Given the description of an element on the screen output the (x, y) to click on. 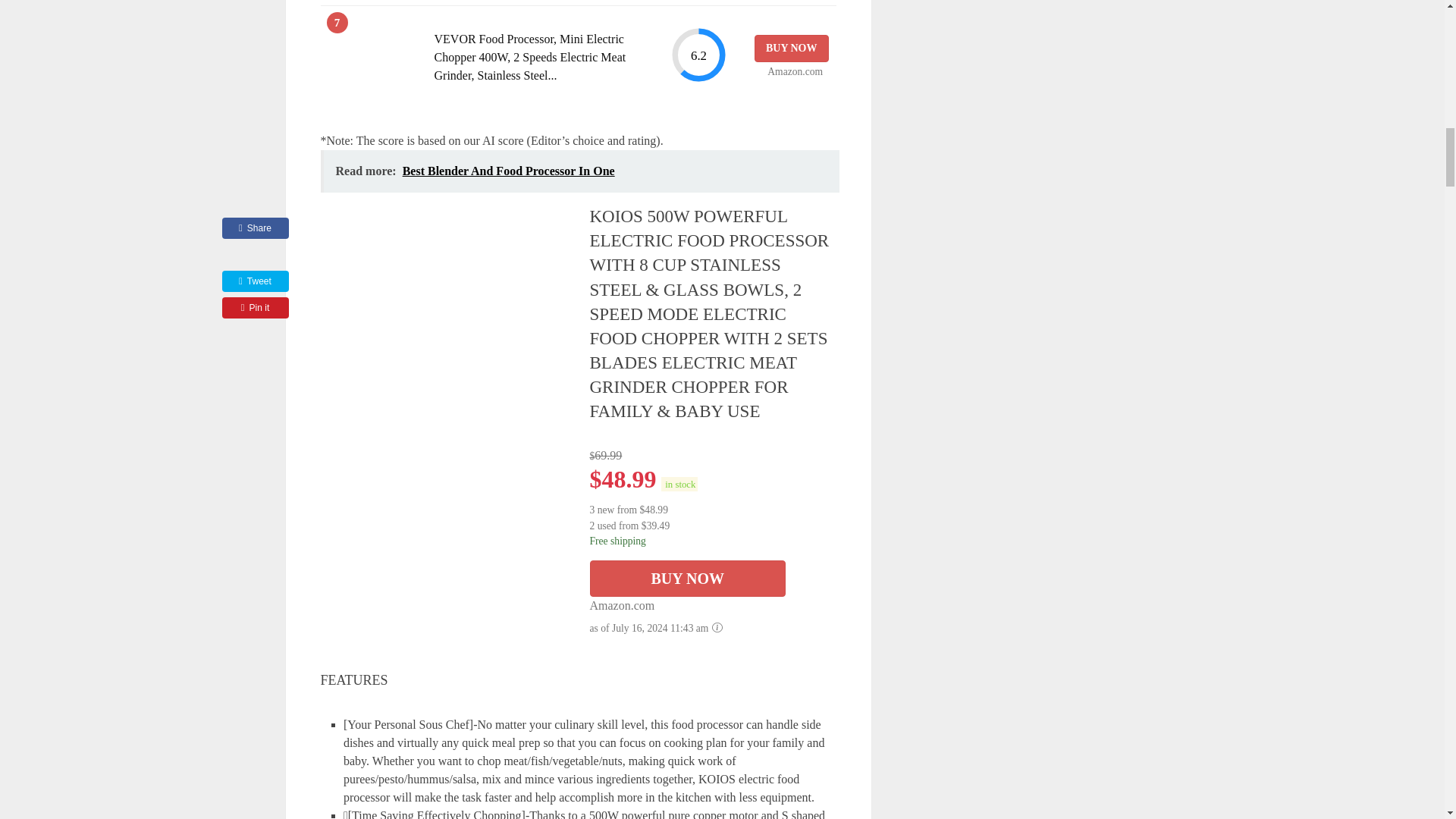
6.2 (697, 54)
Last updated on July 16, 2024 11:43 am (679, 483)
